Given the description of an element on the screen output the (x, y) to click on. 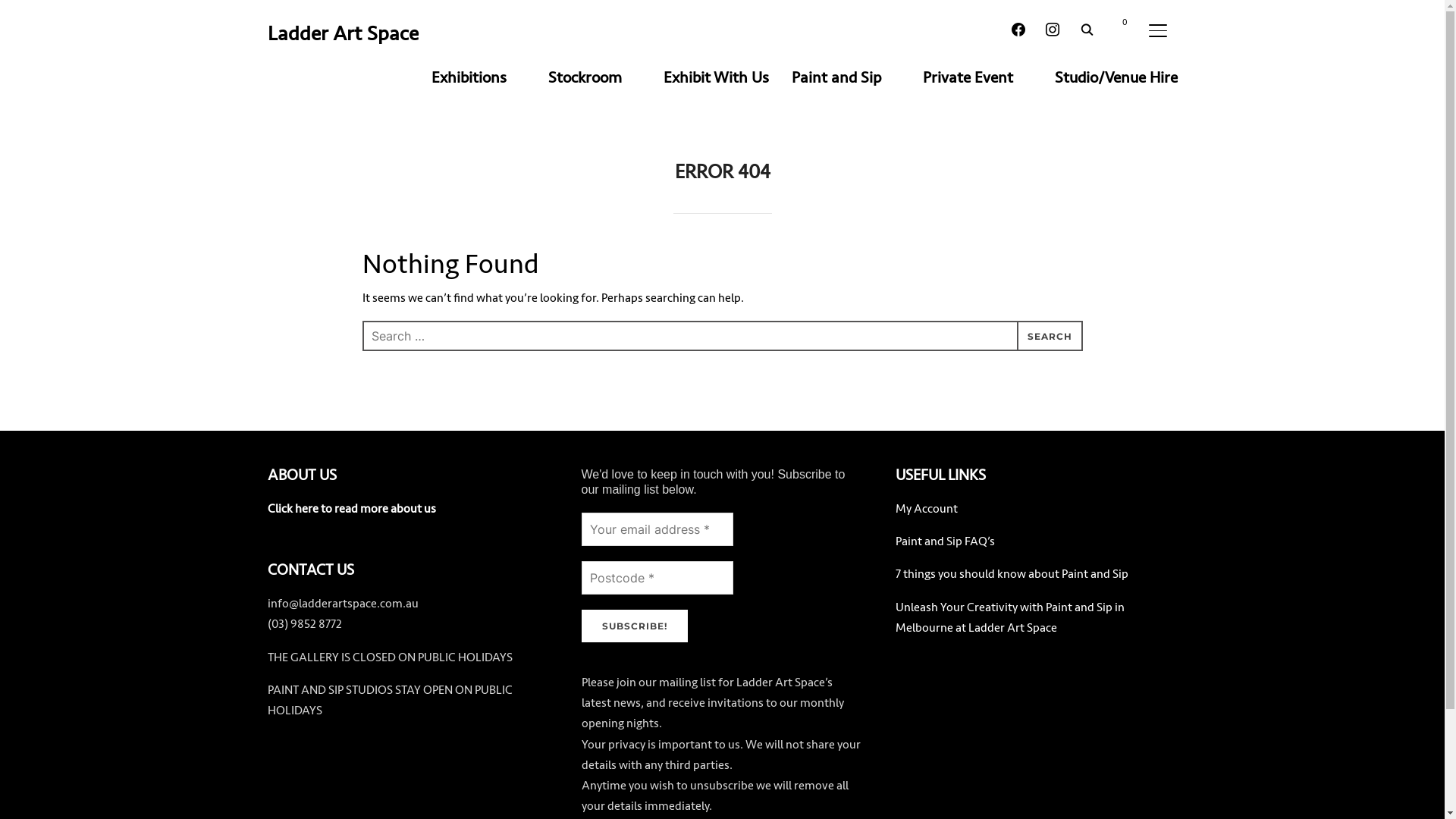
Ladder Art Space Element type: text (341, 33)
Subscribe! Element type: text (633, 625)
Exhibitions Element type: text (477, 77)
Click here to read more about us Element type: text (350, 508)
Search Element type: text (15, 15)
Postcode Element type: hover (656, 577)
Studio/Venue Hire Element type: text (1115, 77)
Private Event Element type: text (976, 77)
Paint and Sip Element type: text (845, 77)
instagram Element type: text (1051, 28)
7 things you should know about Paint and Sip Element type: text (1010, 573)
0 Element type: text (1118, 28)
facebook Element type: text (1018, 28)
Stockroom Element type: text (593, 77)
TOGGLE SIDEBAR & NAVIGATION Element type: text (1161, 30)
Exhibit With Us Element type: text (715, 77)
Search Element type: text (1049, 335)
Your email address Element type: hover (656, 529)
My Account Element type: text (925, 508)
